Given the description of an element on the screen output the (x, y) to click on. 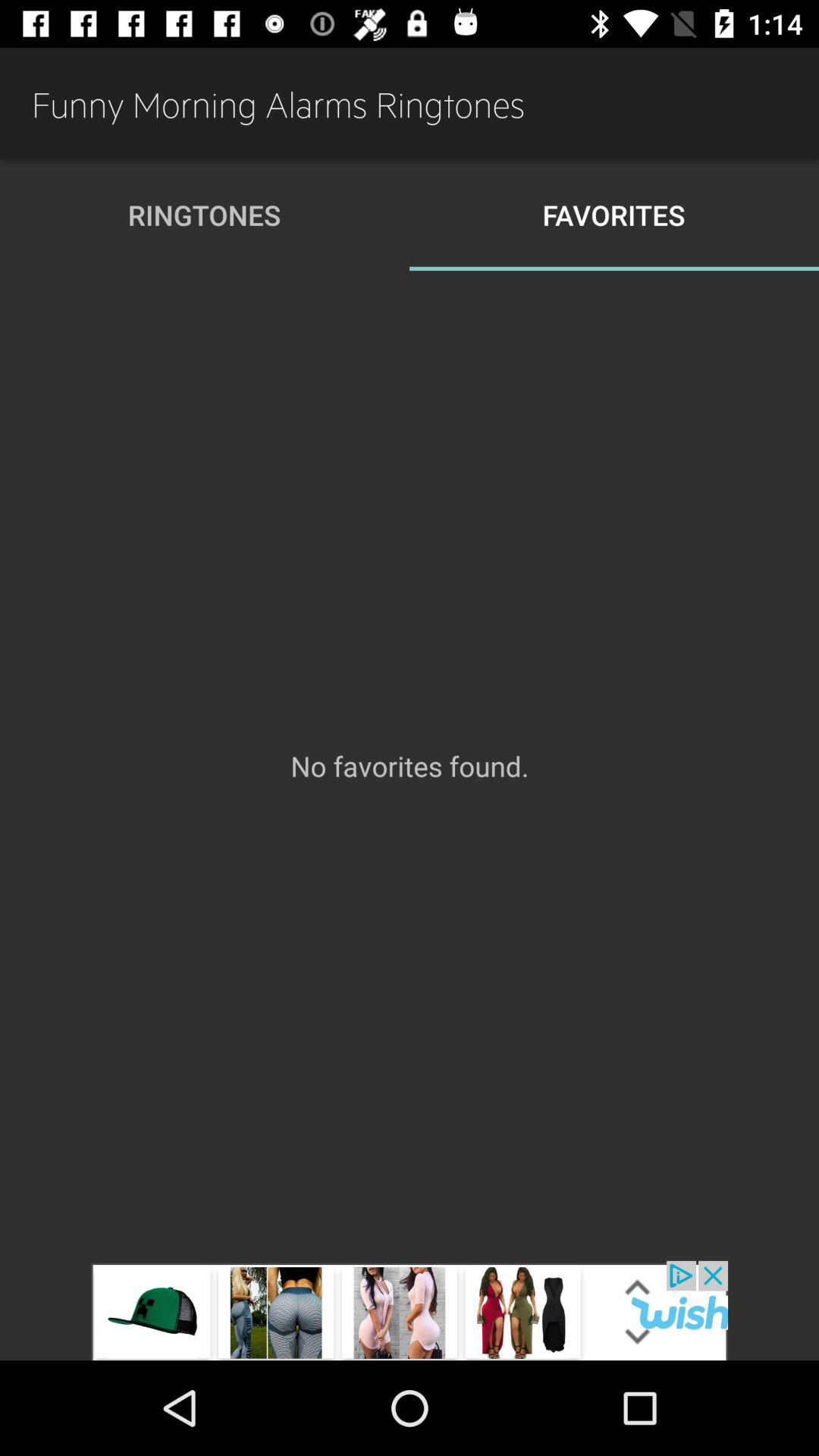
click advertisement (409, 1310)
